Given the description of an element on the screen output the (x, y) to click on. 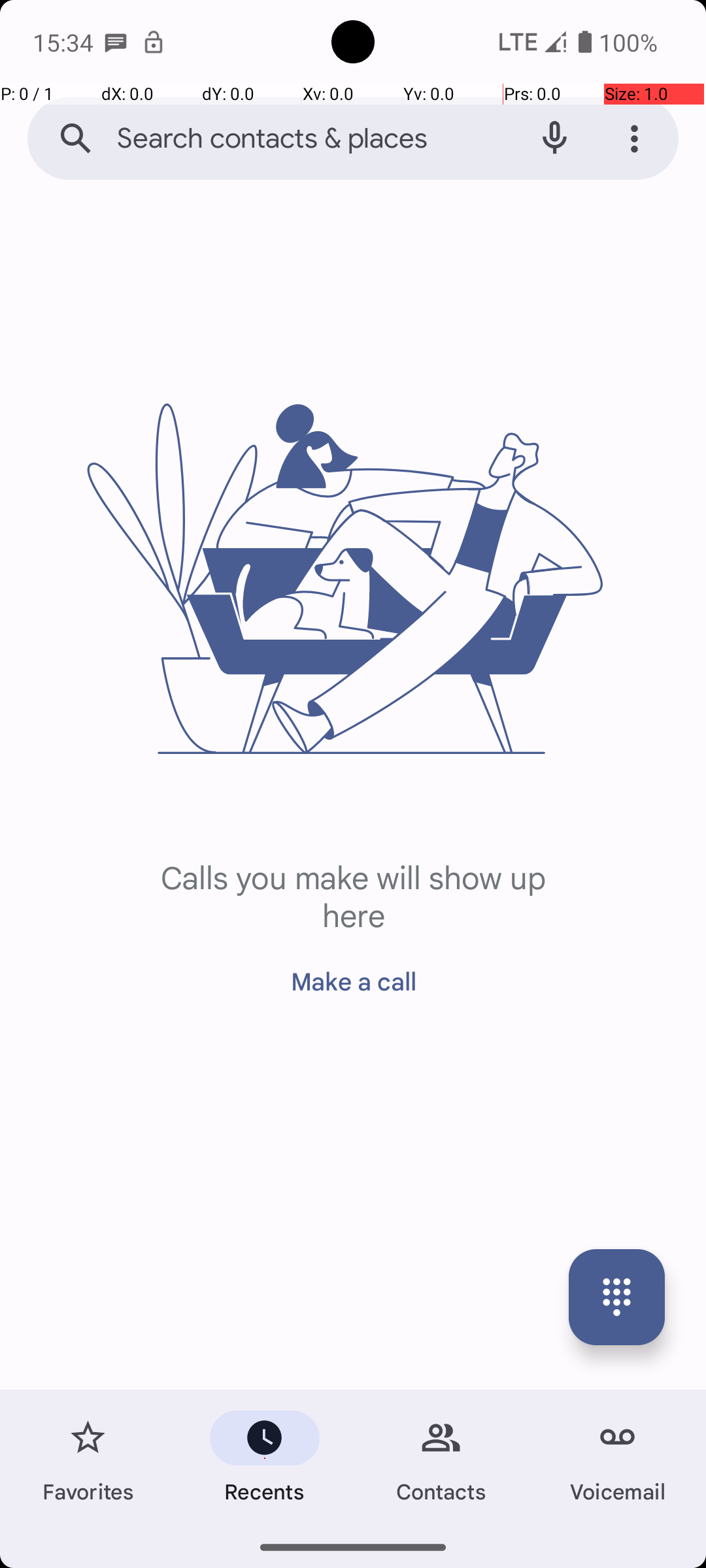
Calls you make will show up here Element type: android.widget.TextView (352, 895)
Make a call Element type: android.widget.TextView (352, 973)
key pad Element type: android.widget.ImageButton (616, 1297)
Recents Element type: android.widget.FrameLayout (264, 1457)
Voicemail Element type: android.widget.FrameLayout (617, 1457)
Tasks notification: Connection security Element type: android.widget.ImageView (153, 41)
